Given the description of an element on the screen output the (x, y) to click on. 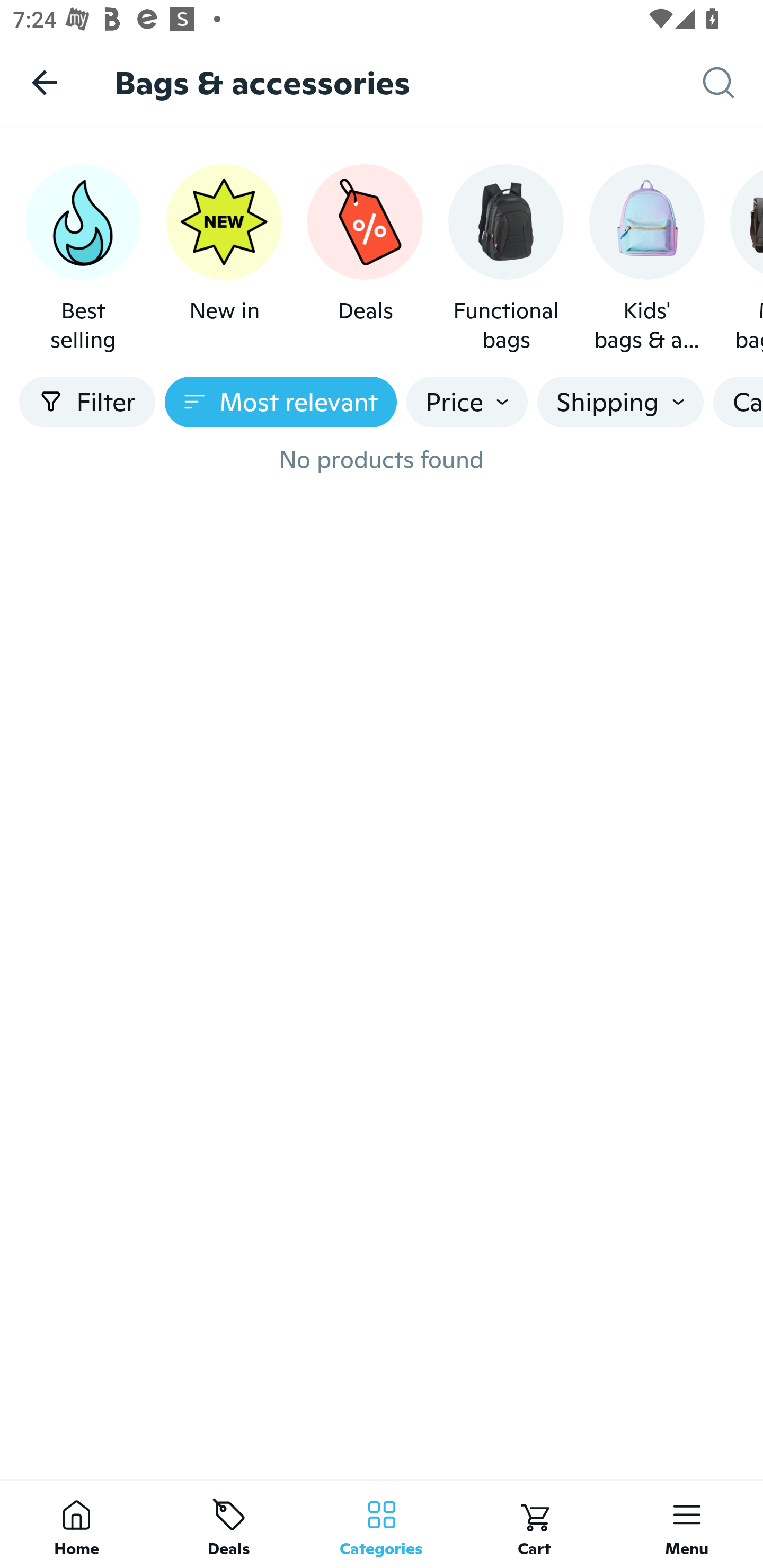
Navigate up (44, 82)
Search (732, 82)
Best selling (83, 259)
New in (223, 259)
Deals (364, 259)
Functional bags (505, 259)
Kids' bags & accessories (647, 259)
Filter (86, 402)
Most relevant (280, 402)
Price (466, 402)
Shipping (620, 402)
Home (76, 1523)
Deals (228, 1523)
Categories (381, 1523)
Cart (533, 1523)
Menu (686, 1523)
